Given the description of an element on the screen output the (x, y) to click on. 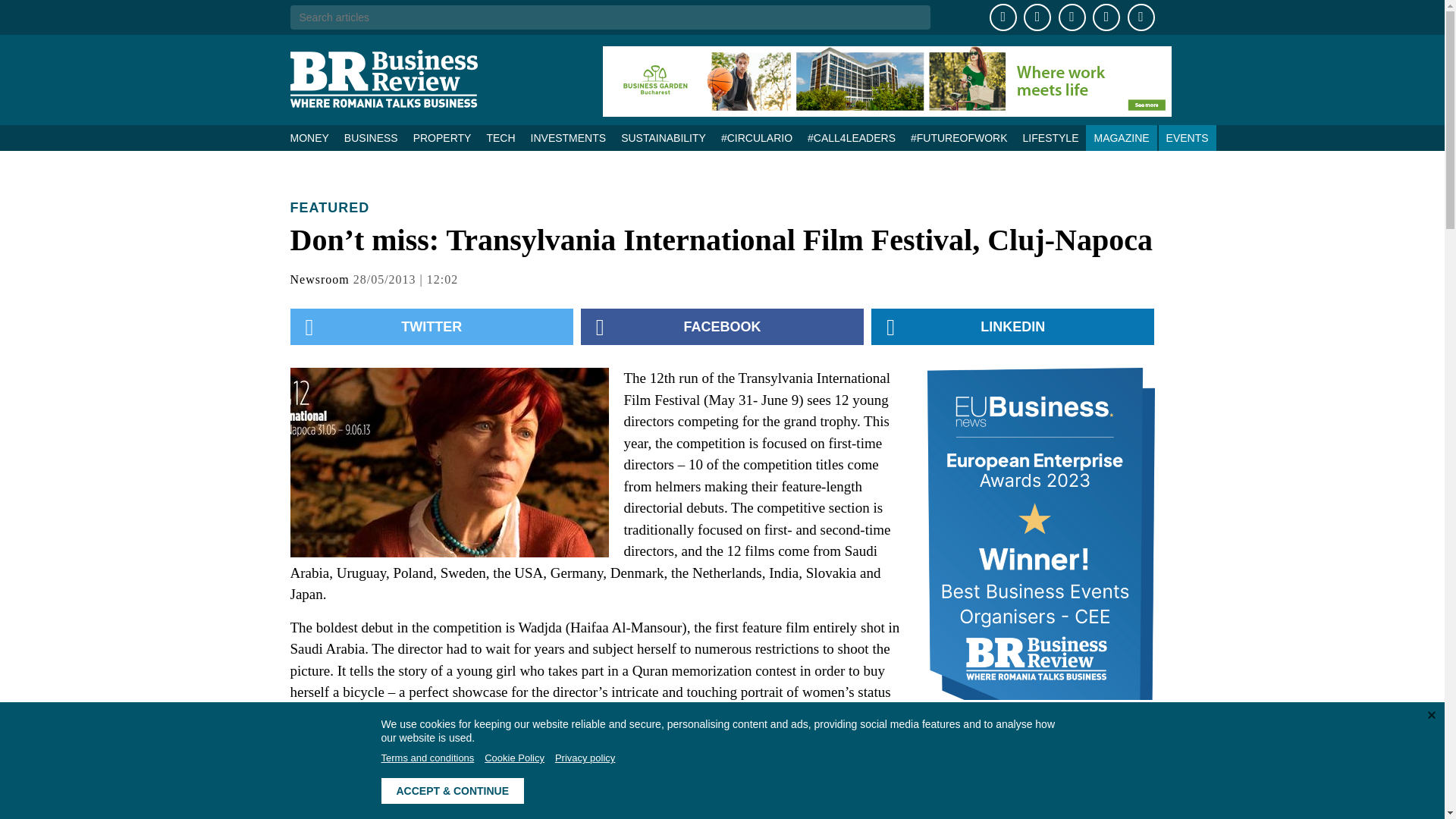
LIFESTYLE (1050, 137)
FEATURED (329, 207)
FACEBOOK (721, 326)
TWITTER (430, 326)
TECH (500, 137)
MONEY (312, 137)
BUSINESS (371, 137)
INVESTMENTS (568, 137)
Newsroom (319, 278)
LINKEDIN (1012, 326)
EVENTS (1186, 137)
SUSTAINABILITY (662, 137)
MAGAZINE (1121, 137)
PROPERTY (442, 137)
